Given the description of an element on the screen output the (x, y) to click on. 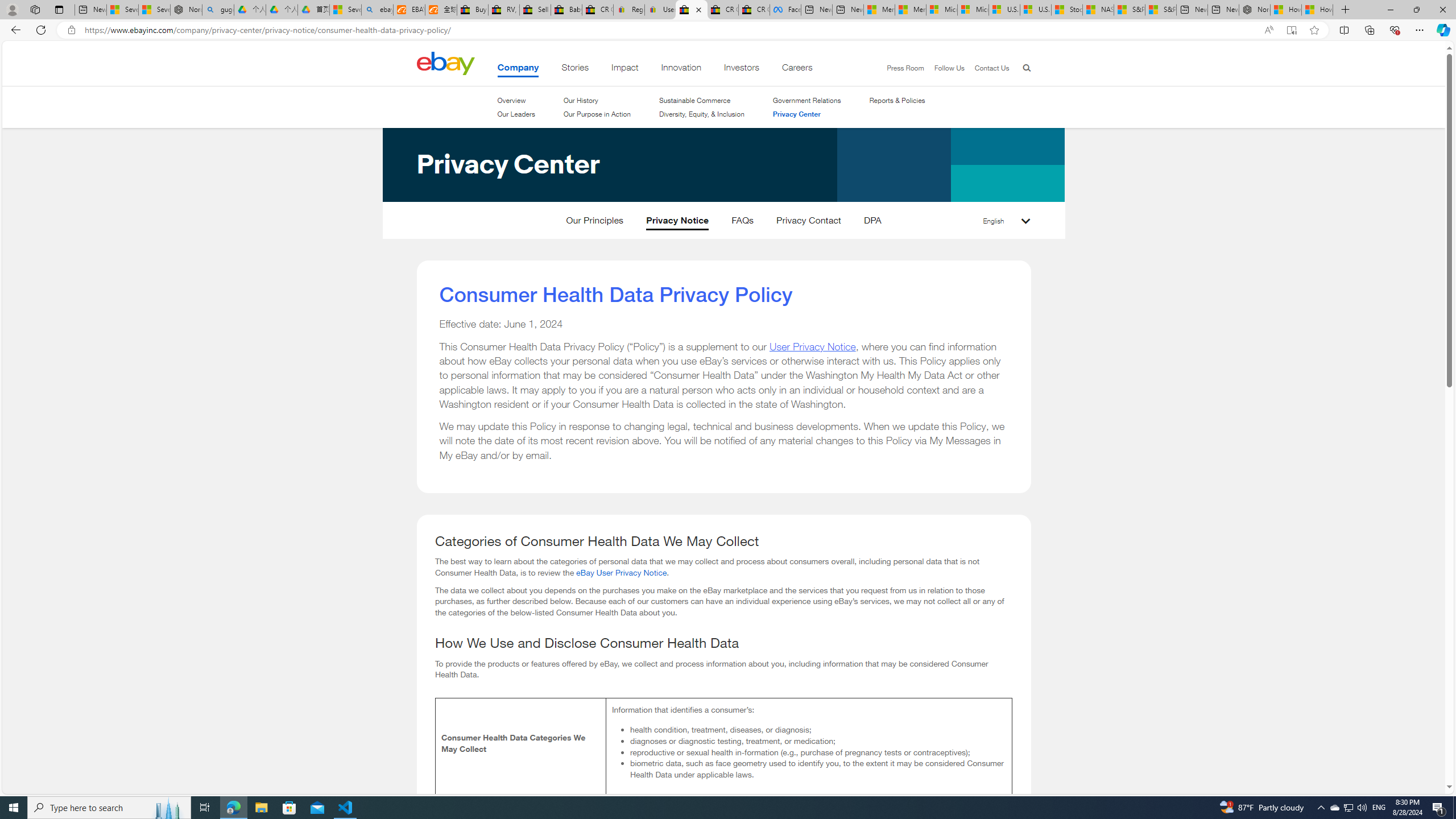
Our Leaders (515, 113)
Company (517, 69)
Careers (796, 69)
How to Use a Monitor With Your Closed Laptop (1317, 9)
guge yunpan - Search (218, 9)
